Given the description of an element on the screen output the (x, y) to click on. 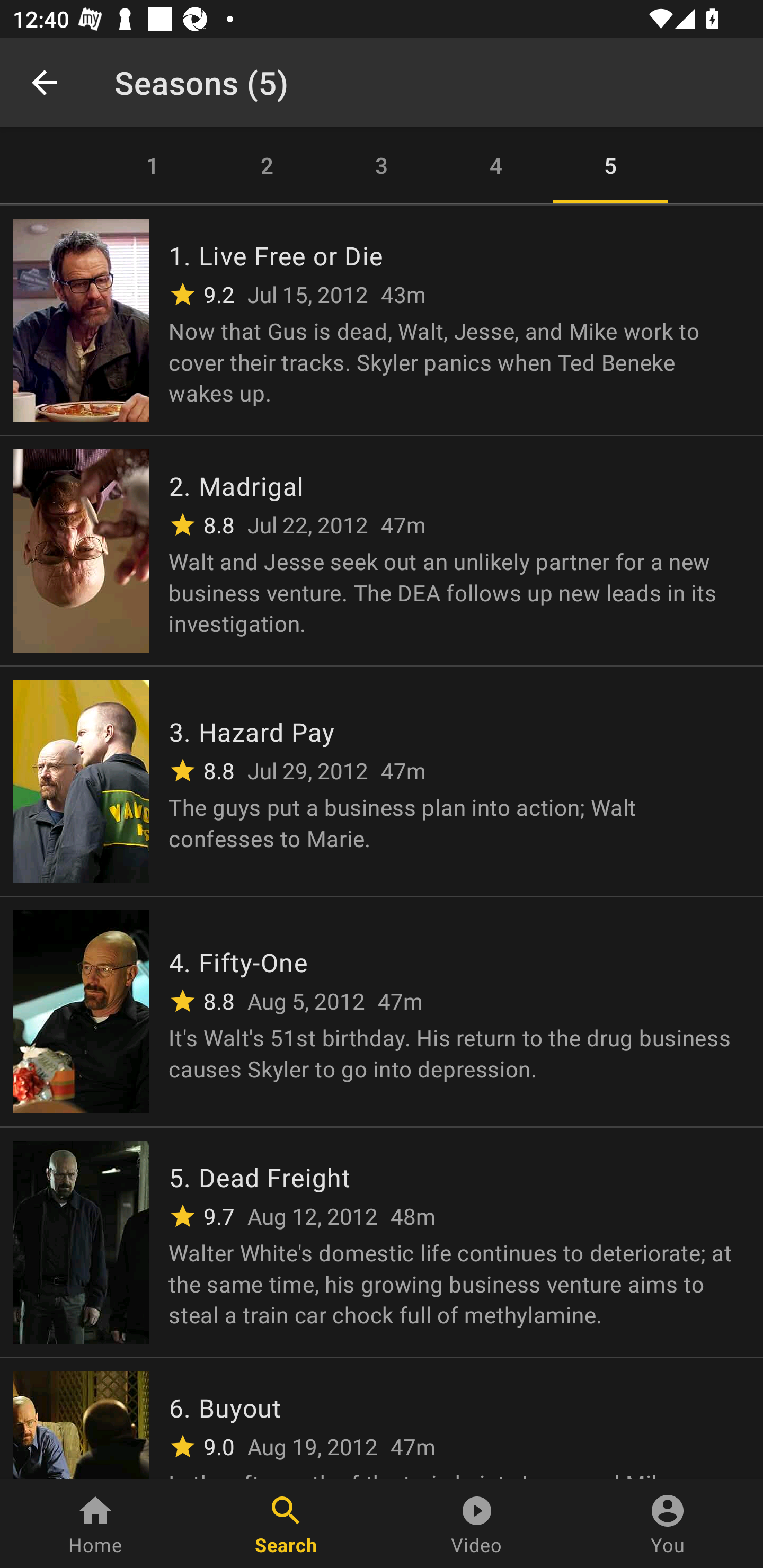
1 (152, 165)
2 (266, 165)
3 (381, 165)
4 (495, 165)
Home (95, 1523)
Video (476, 1523)
You (667, 1523)
